Given the description of an element on the screen output the (x, y) to click on. 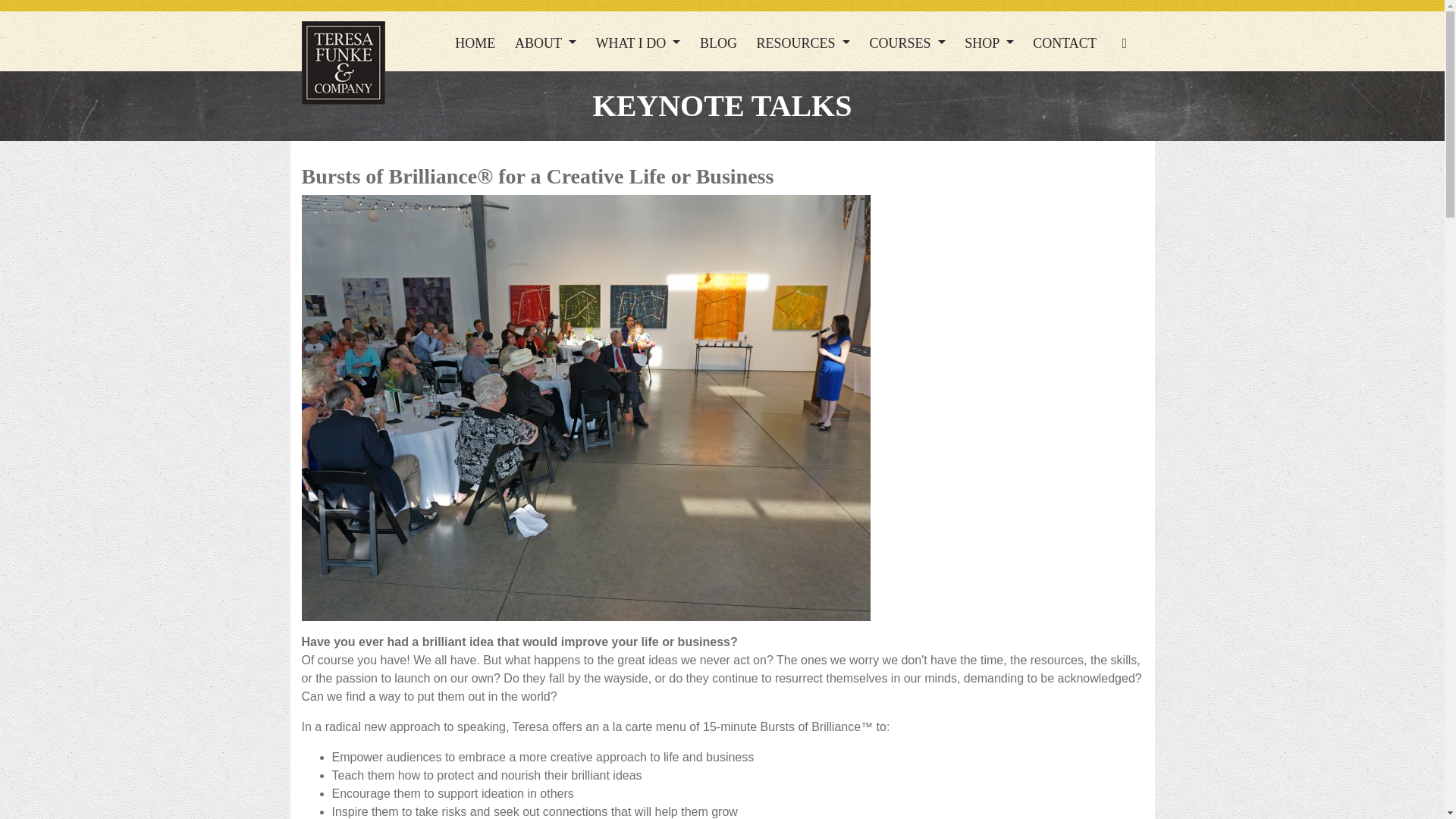
SHOP (989, 43)
ABOUT (545, 43)
Blog (718, 43)
Contact (1064, 43)
COURSES (907, 43)
RESOURCES (803, 43)
Shop (989, 43)
WHAT I DO (638, 43)
CONTACT (1064, 43)
HOME (475, 43)
Cart (1124, 43)
CART (1124, 43)
Home (475, 43)
What I Do (638, 43)
Resources (803, 43)
